Given the description of an element on the screen output the (x, y) to click on. 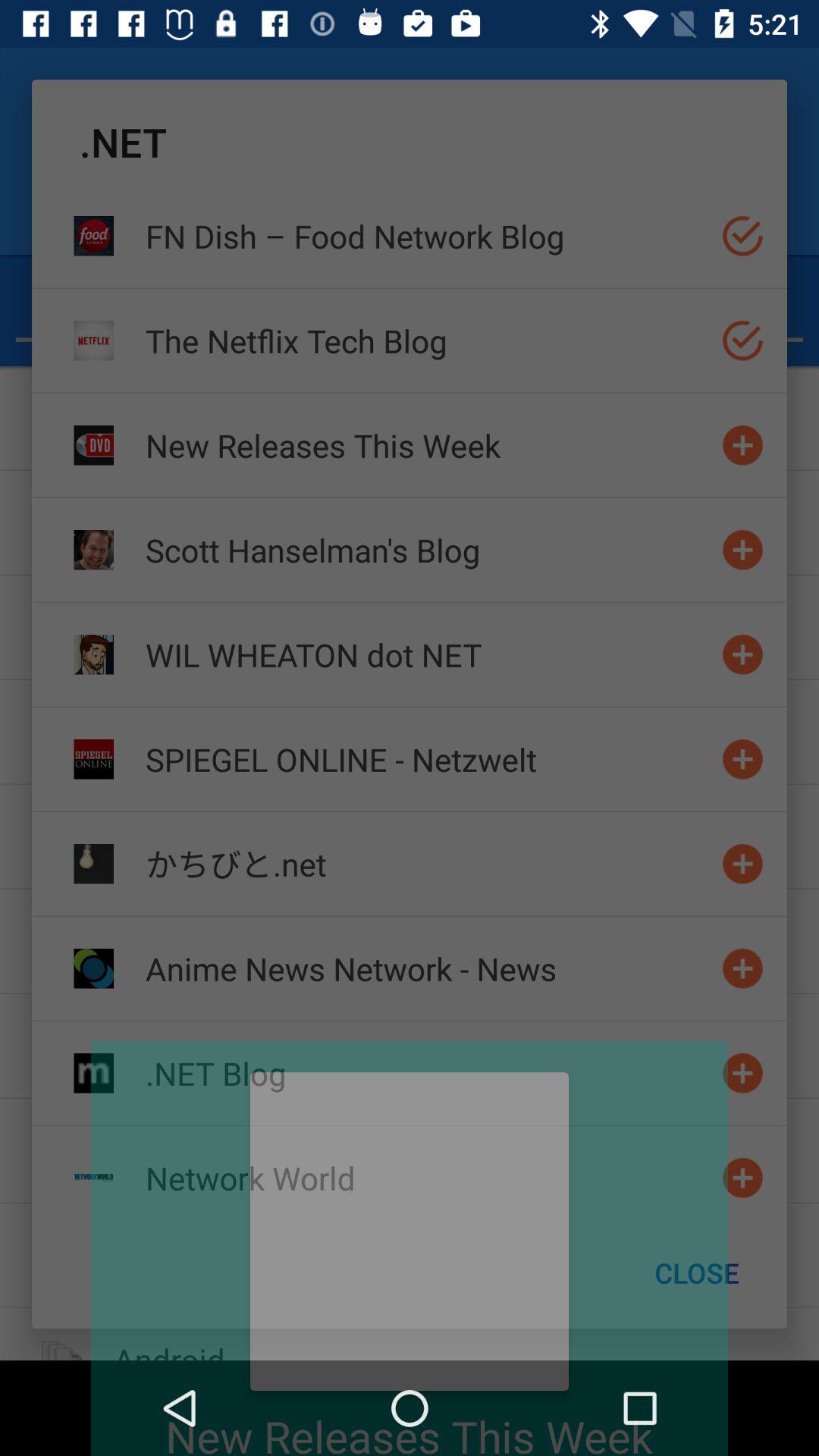
open the icon below new releases this item (426, 549)
